Given the description of an element on the screen output the (x, y) to click on. 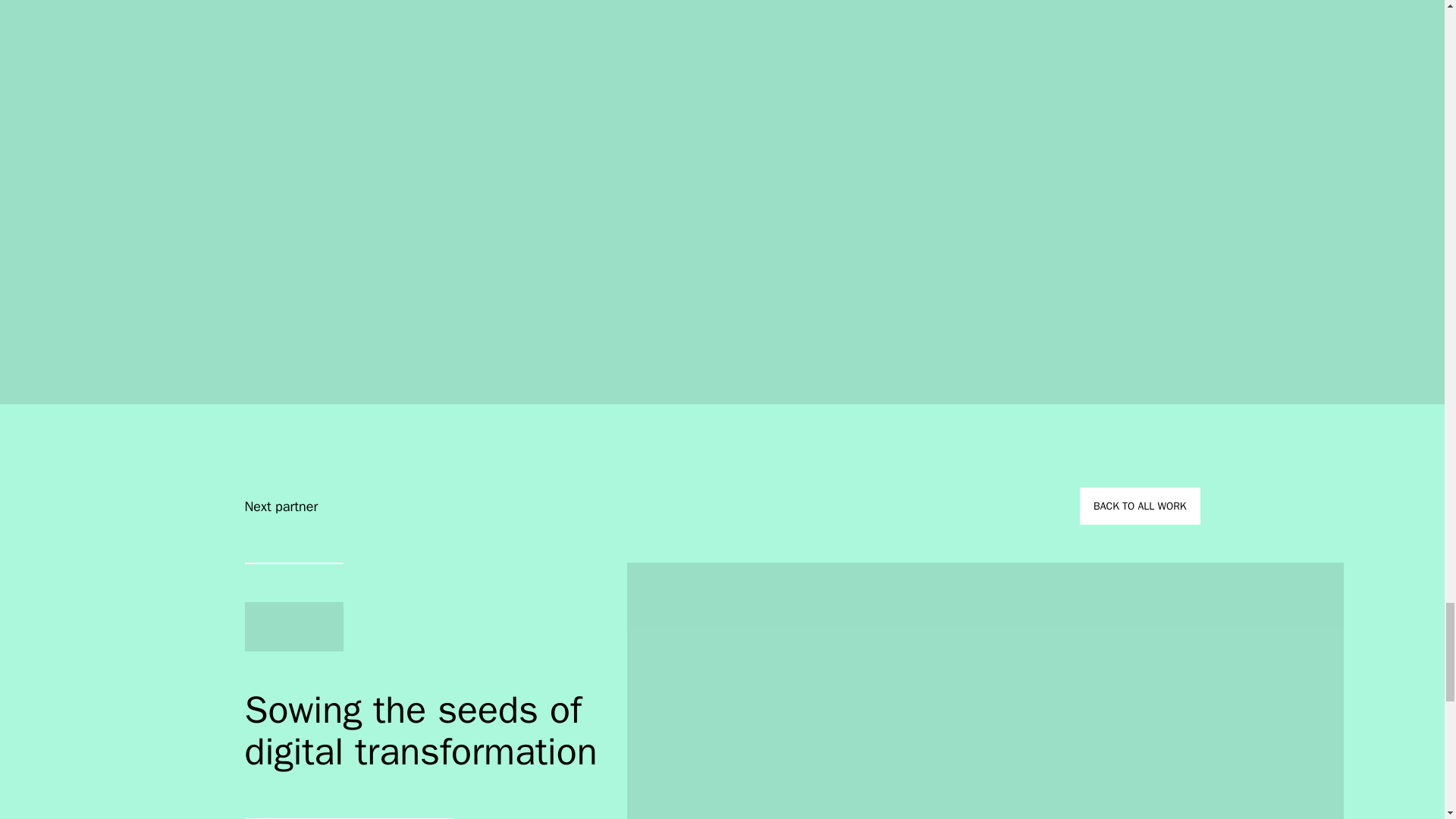
BACK TO ALL WORK (1139, 505)
